Given the description of an element on the screen output the (x, y) to click on. 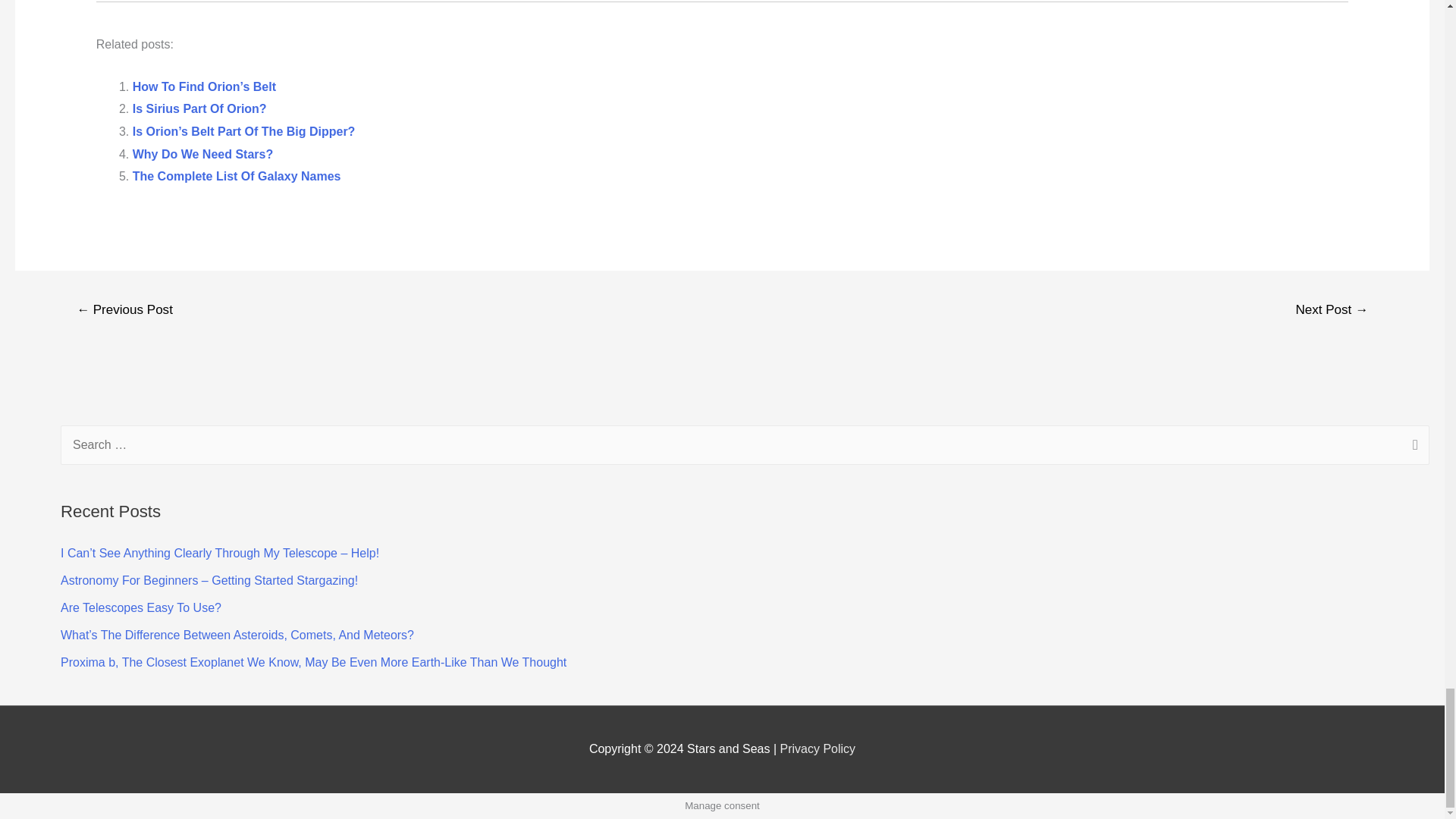
Privacy Policy (818, 748)
Are Telescopes Easy To Use? (141, 607)
Why Do We Need Stars? (202, 154)
Is Sirius Part Of Orion? (199, 108)
The Complete List Of Galaxy Names (236, 175)
The Complete List Of Galaxy Names (236, 175)
Why Do We Need Stars? (202, 154)
Is Sirius Part Of Orion? (199, 108)
